Given the description of an element on the screen output the (x, y) to click on. 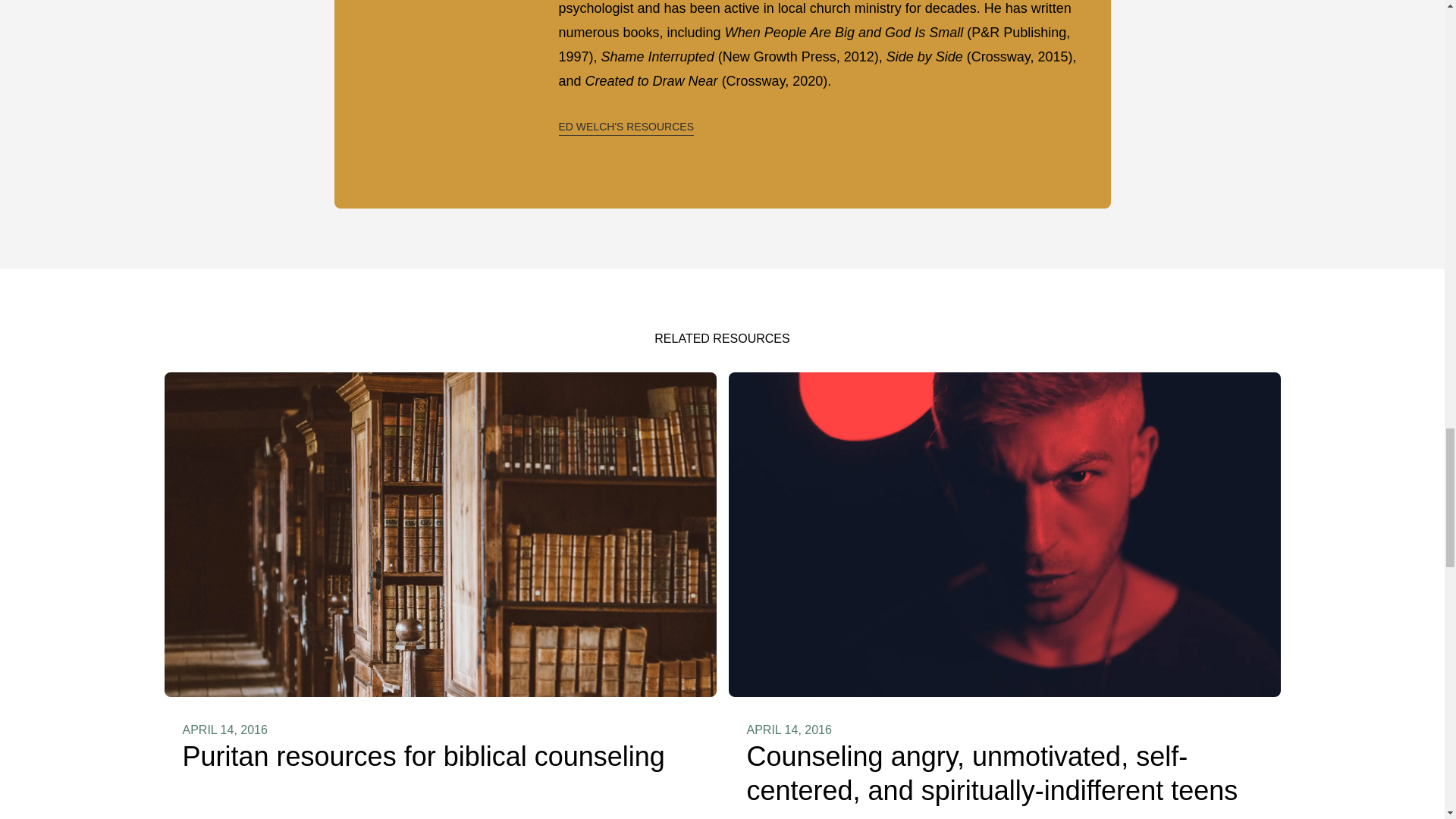
ED WELCH'S RESOURCES (625, 125)
